Given the description of an element on the screen output the (x, y) to click on. 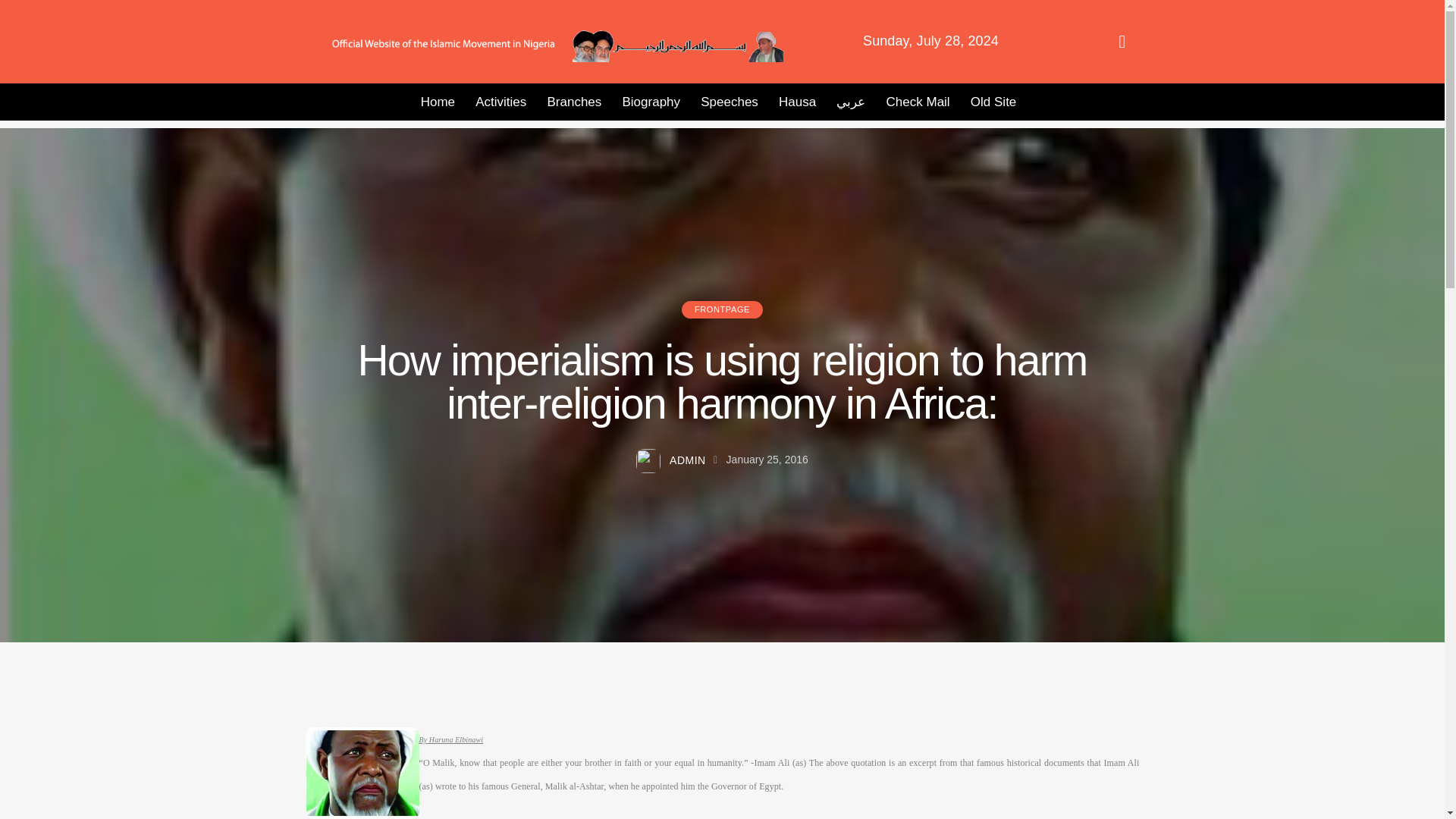
Biography (650, 102)
Branches (574, 102)
Check Mail (917, 102)
Speeches (729, 102)
Old Site (992, 102)
Activities (501, 102)
Home (437, 102)
Hausa (796, 102)
